Given the description of an element on the screen output the (x, y) to click on. 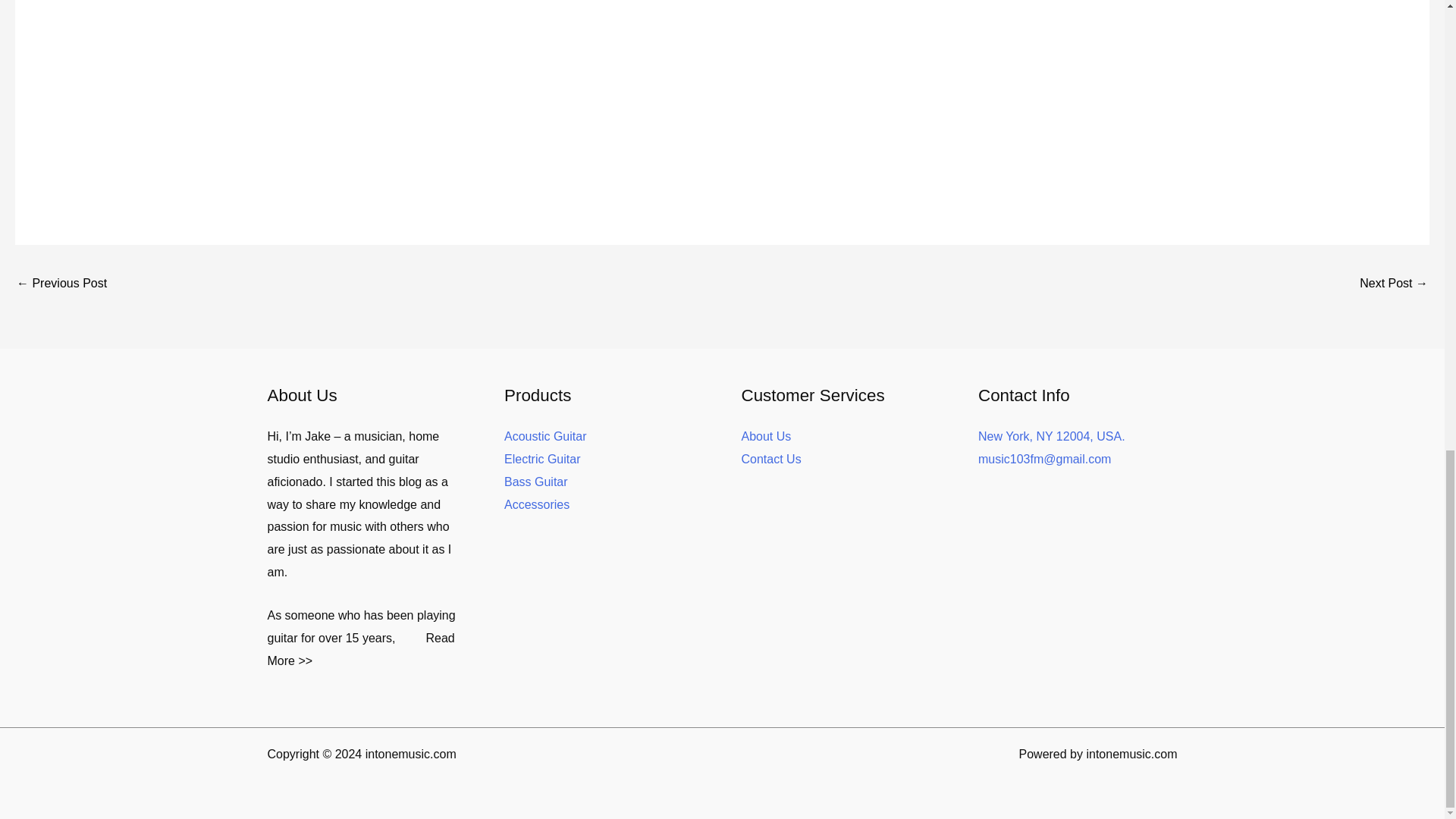
Wagon Wheel Guitar Chords (1393, 284)
Chords Seven Spanish Angels (61, 284)
